Given the description of an element on the screen output the (x, y) to click on. 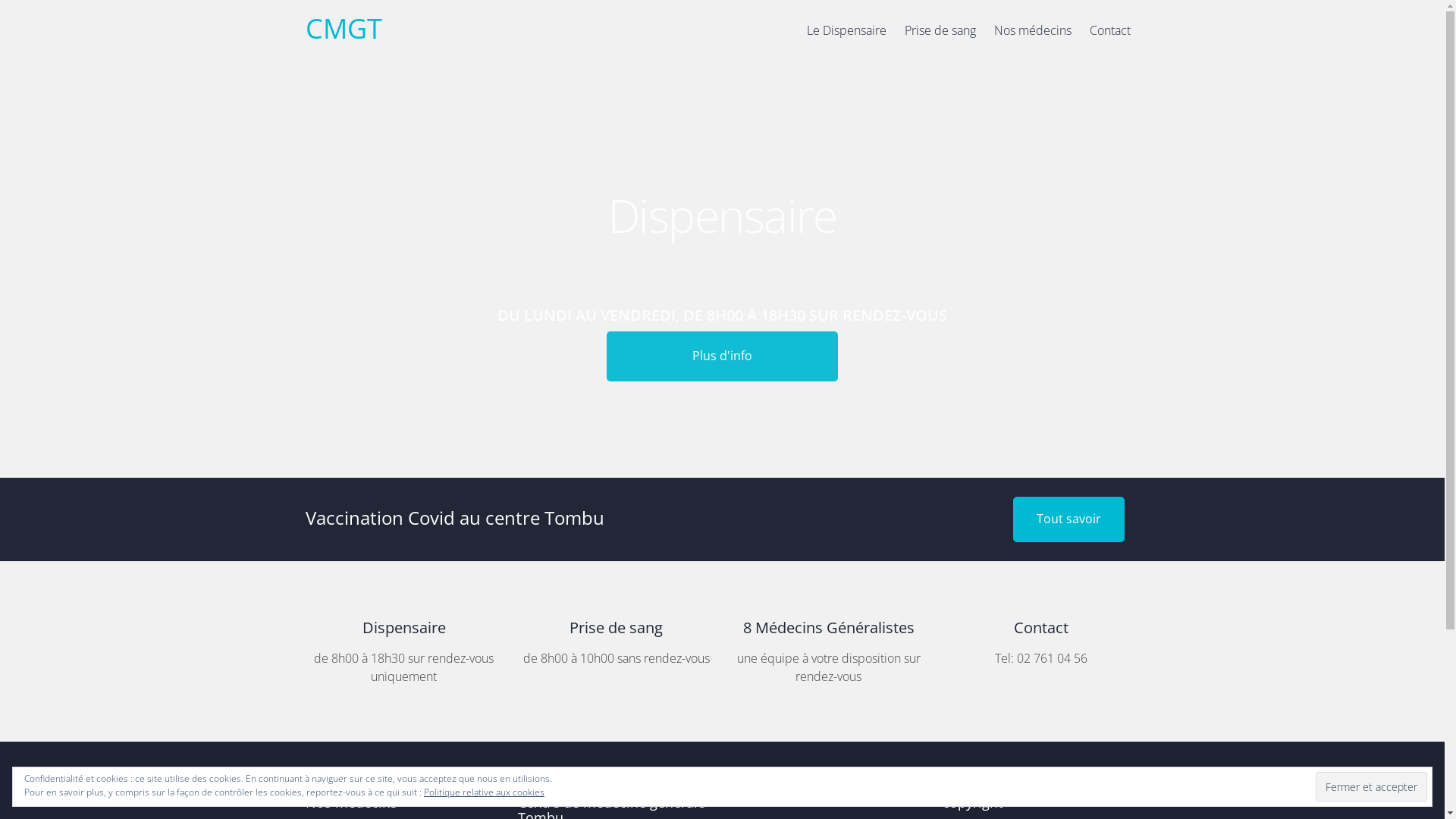
Fermer et accepter Element type: text (1371, 786)
Tout savoir Element type: text (1068, 519)
Le Dispensaire Element type: text (846, 37)
Plus d'info Element type: text (721, 327)
Tout savoir Element type: text (1068, 518)
Contact Element type: text (1109, 37)
CMGT Element type: text (342, 28)
Prise de sang Element type: text (939, 37)
Politique relative aux cookies Element type: text (483, 791)
